Given the description of an element on the screen output the (x, y) to click on. 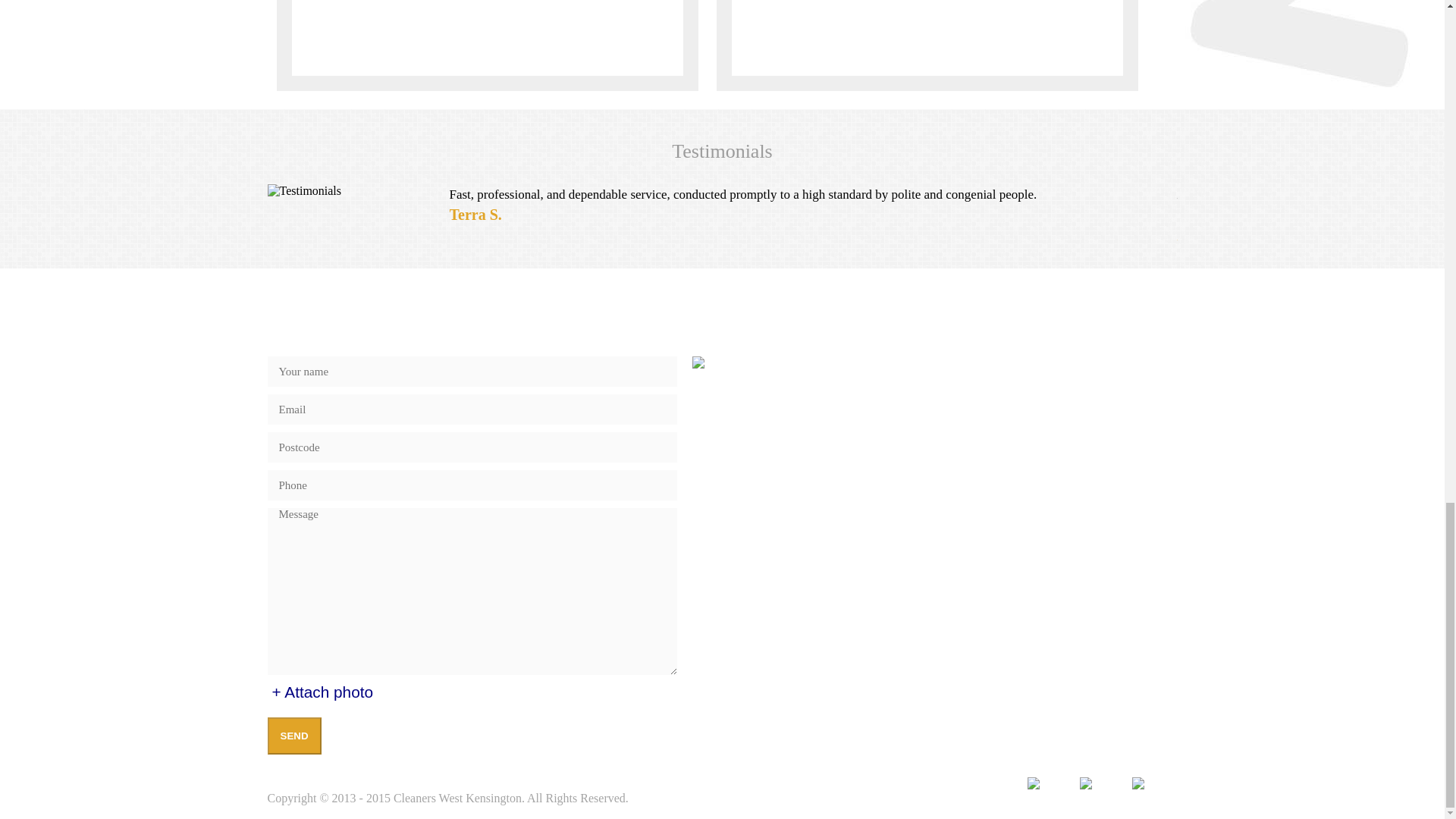
SEND (293, 735)
Send E-mail (858, 529)
